Given the description of an element on the screen output the (x, y) to click on. 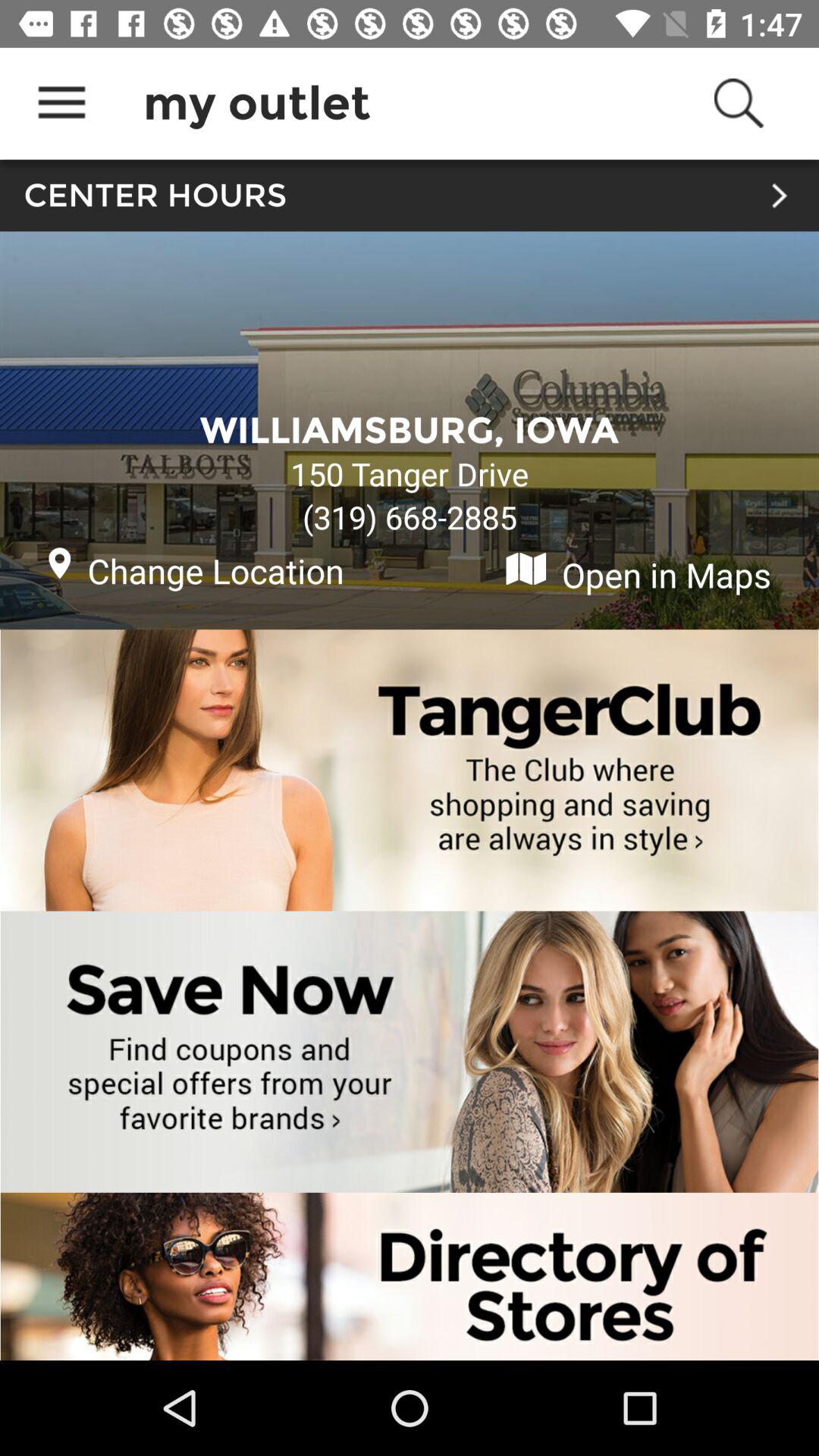
turn on the (319) 668-2885 item (409, 516)
